Given the description of an element on the screen output the (x, y) to click on. 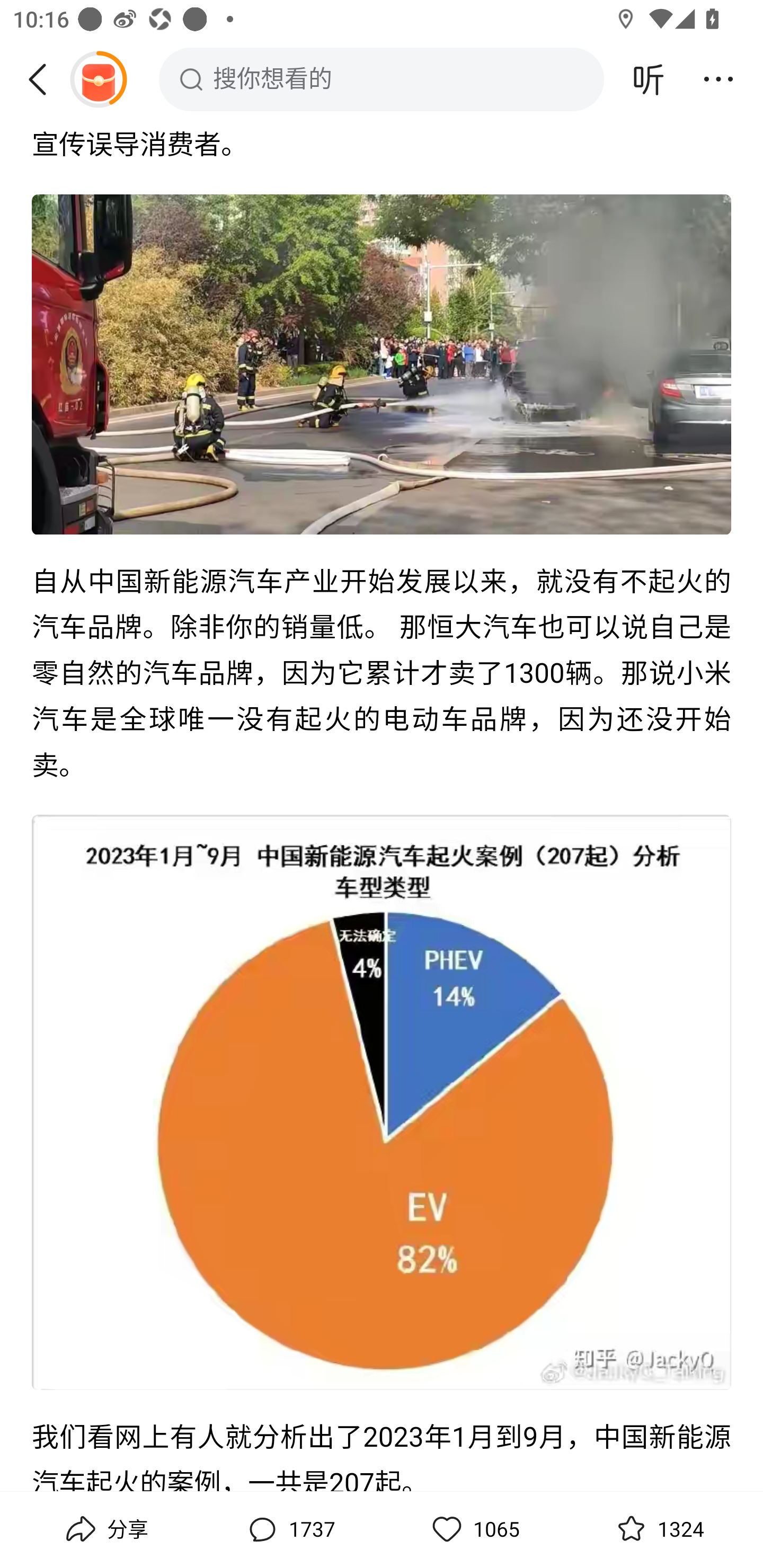
返回 (44, 78)
听头条 (648, 78)
更多操作 (718, 78)
搜你想看的 搜索框，搜你想看的 (381, 79)
阅读赚金币 (98, 79)
图片，点击识别内容 (381, 366)
图片，点击识别内容 (381, 1103)
分享 (104, 1529)
评论,1737 1737 (288, 1529)
收藏,1324 1324 (658, 1529)
